Given the description of an element on the screen output the (x, y) to click on. 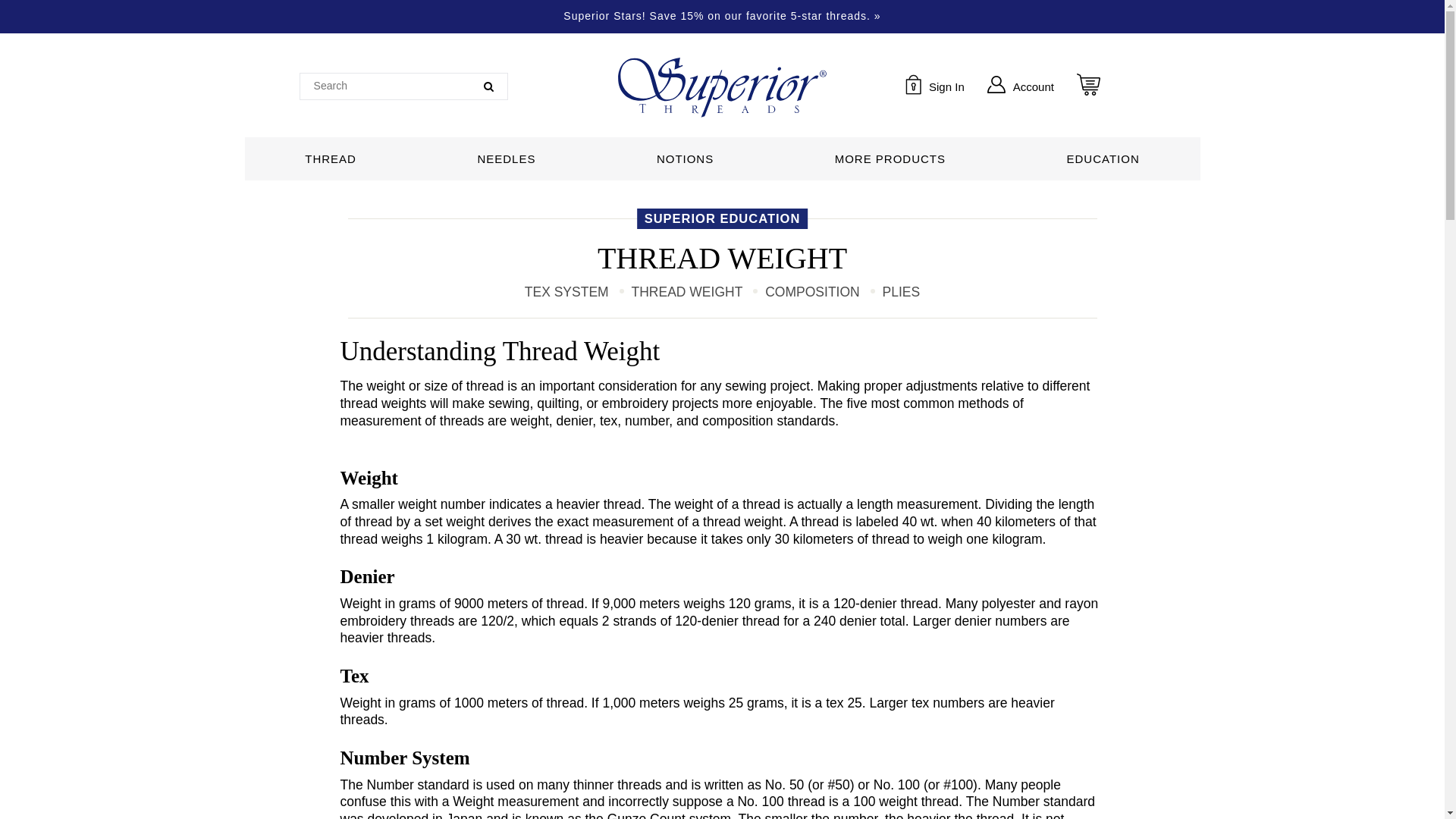
View Cart (1115, 86)
THREAD (1020, 86)
